Given the description of an element on the screen output the (x, y) to click on. 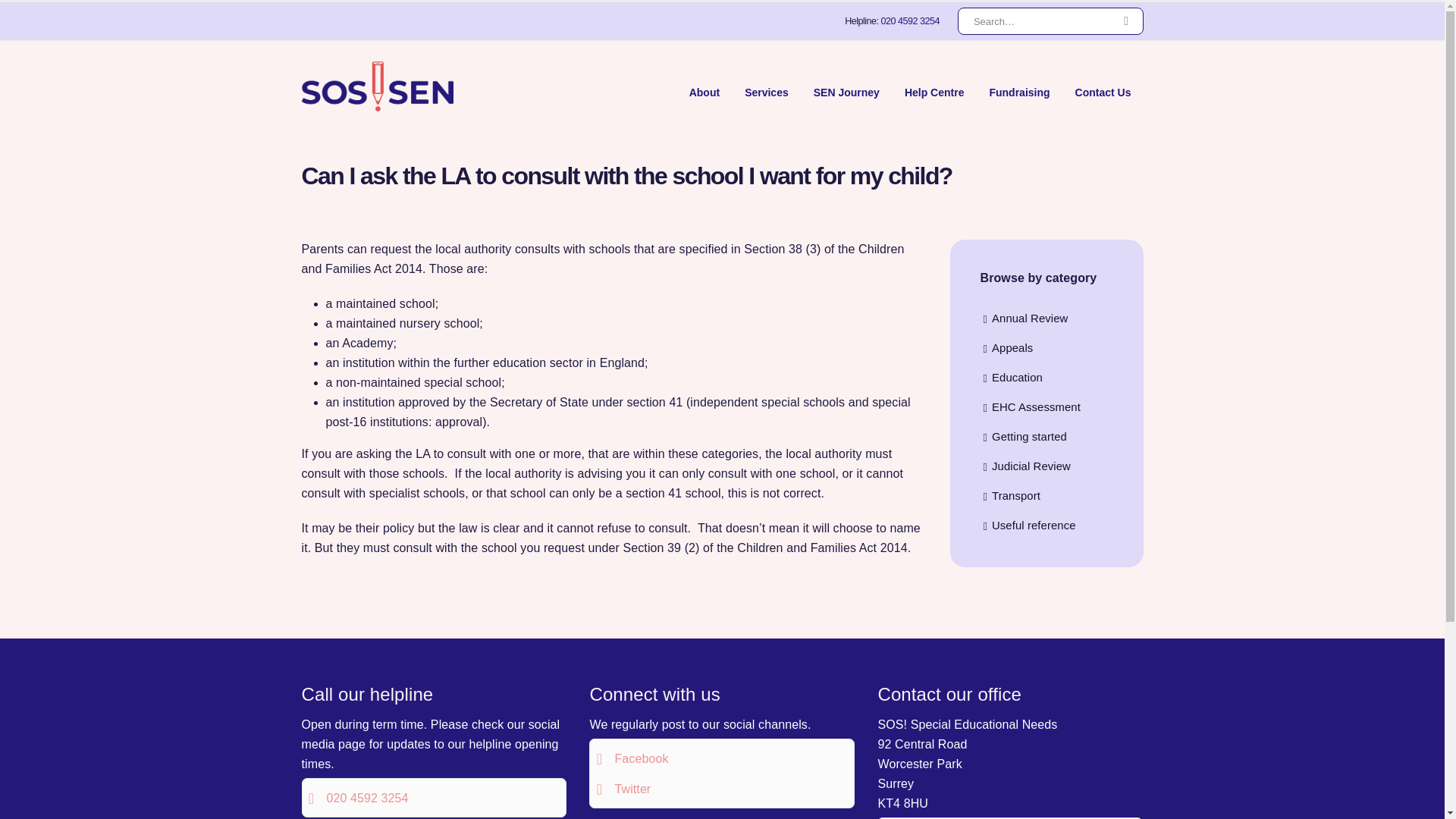
Contact Us (1102, 91)
Fundraising (1018, 91)
Search (1125, 21)
Help Centre (934, 91)
Services (766, 91)
SEN Journey (846, 91)
About (704, 91)
020 4592 3254 (909, 20)
